Given the description of an element on the screen output the (x, y) to click on. 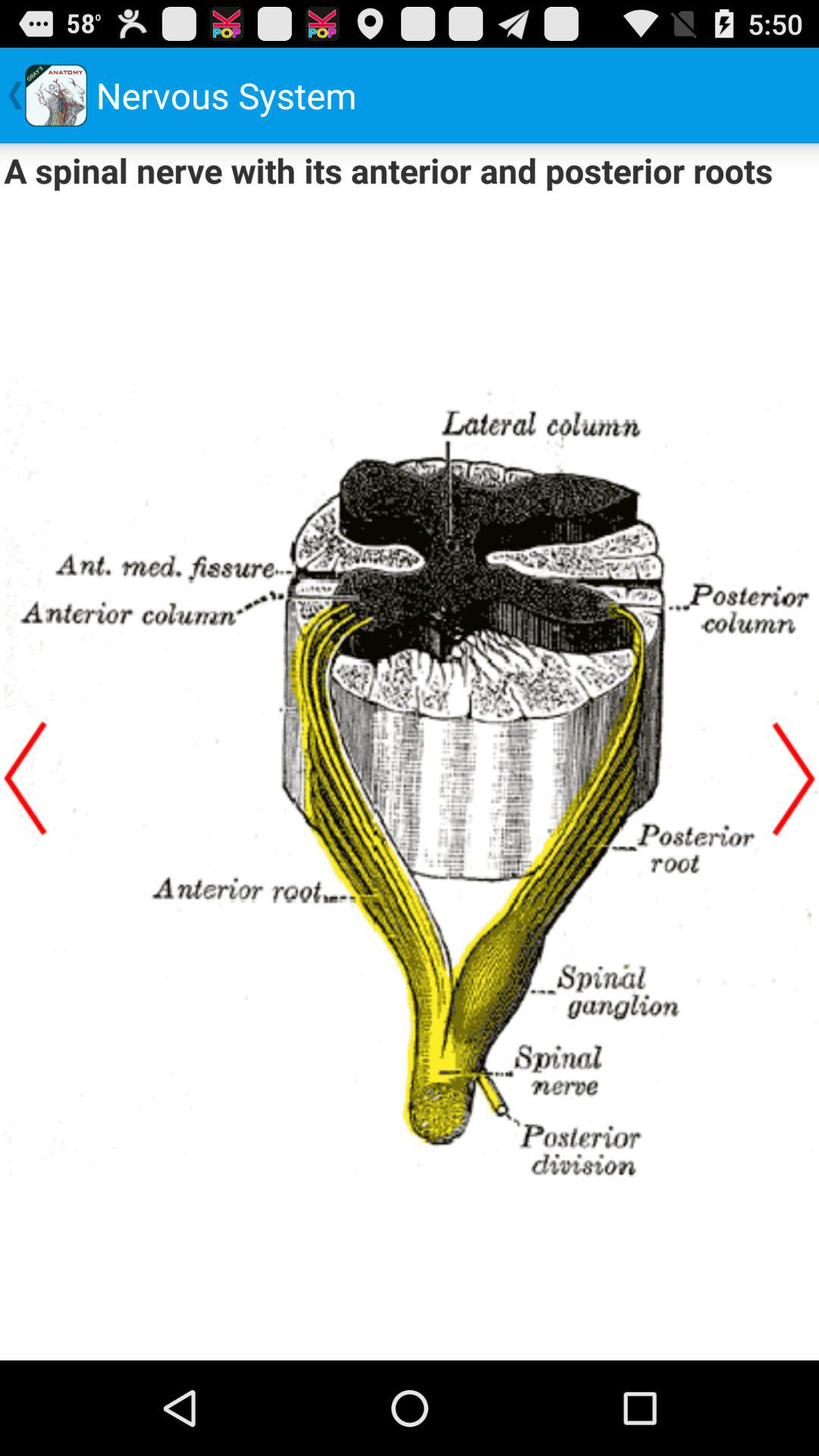
go to next (793, 778)
